Given the description of an element on the screen output the (x, y) to click on. 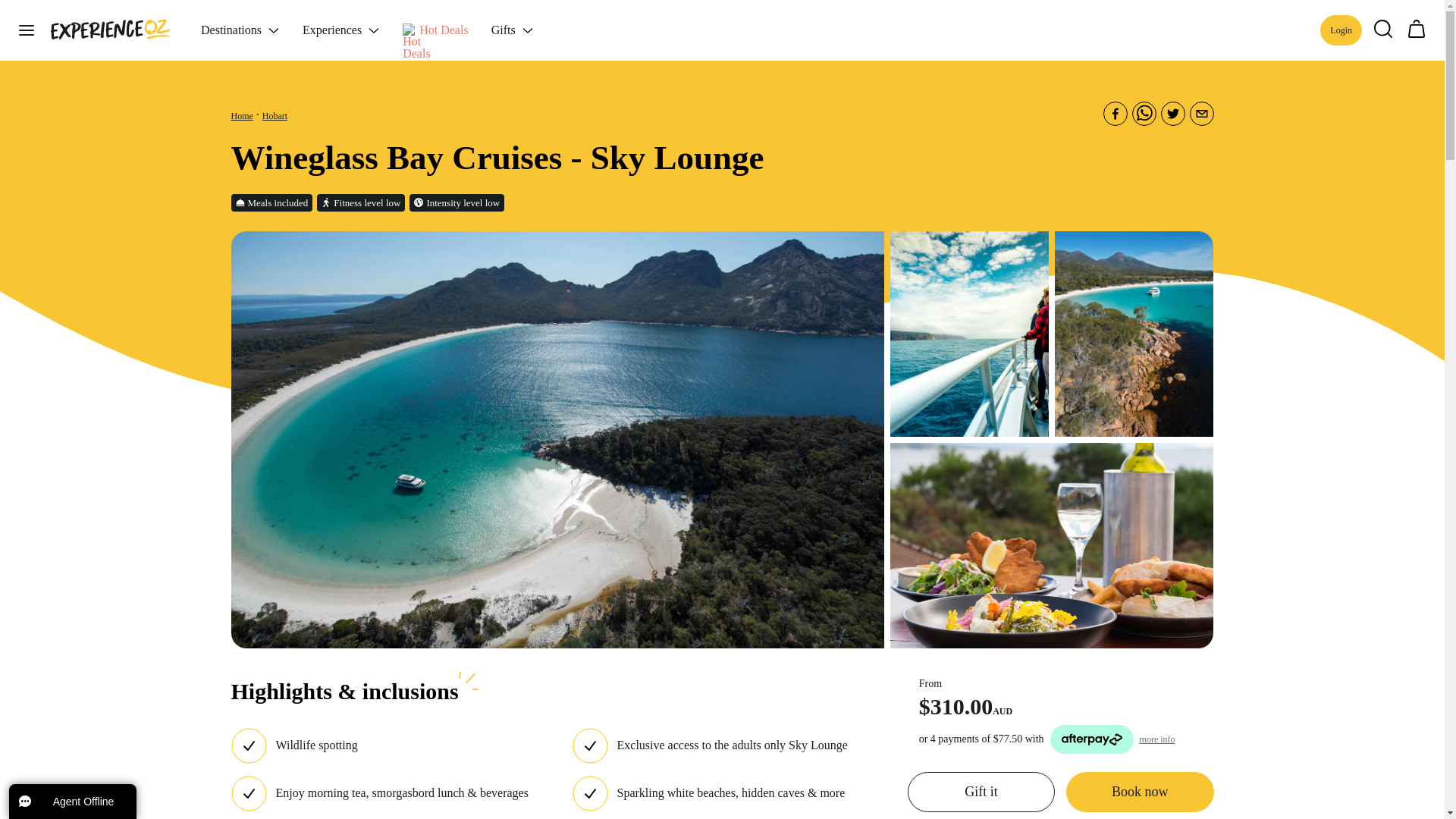
Book now (1138, 792)
Home (240, 115)
more info (1157, 738)
Gift it (980, 792)
Hobart (274, 115)
Login (1340, 30)
